Given the description of an element on the screen output the (x, y) to click on. 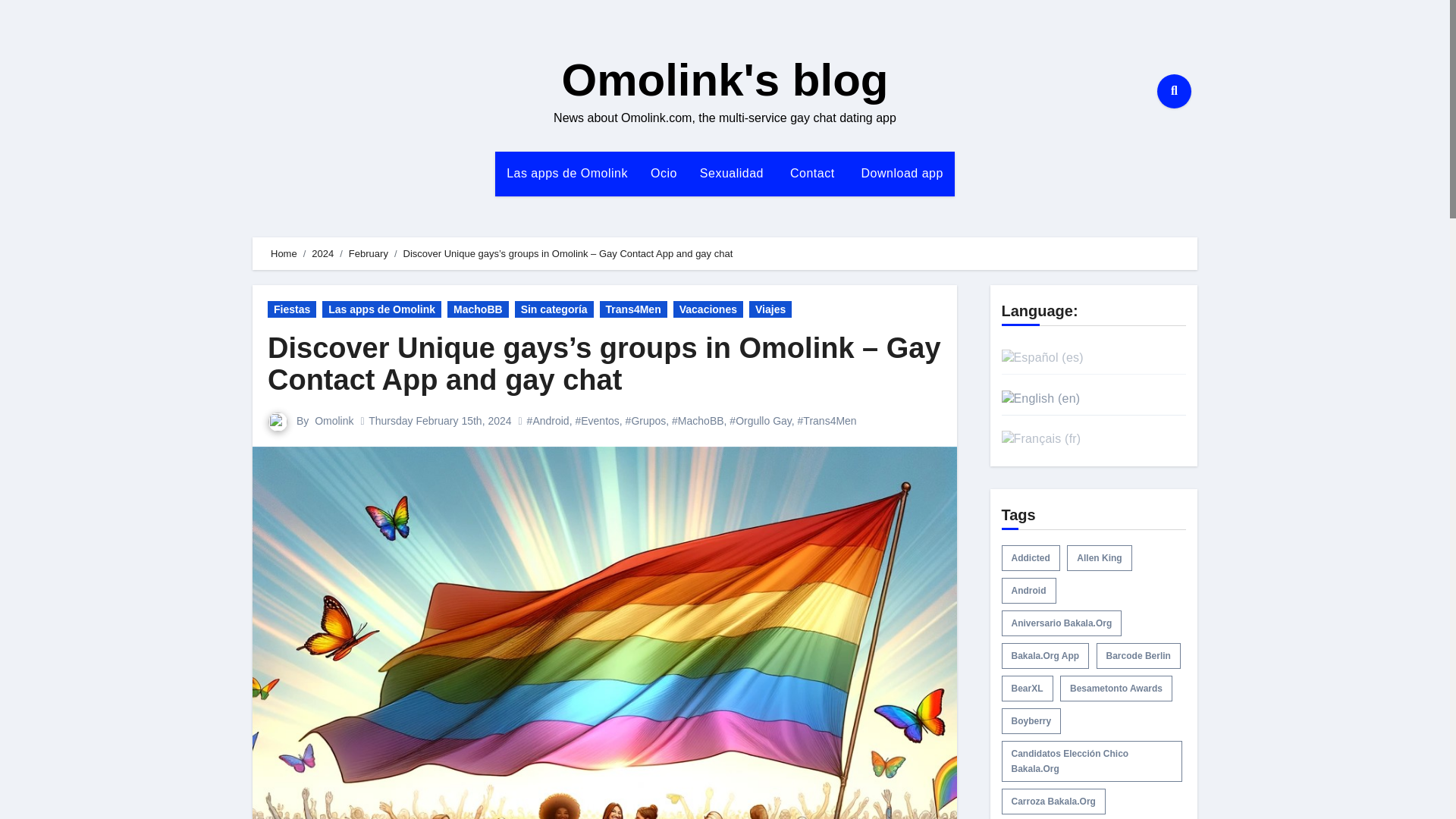
Vacaciones (707, 309)
 Contact (809, 173)
Fiestas (291, 309)
Las apps de Omolink (567, 173)
Sexualidad (731, 173)
2024 (322, 253)
MachoBB (477, 309)
Trans4Men (632, 309)
February (368, 253)
 Download app (900, 173)
Omolink (333, 420)
Las apps de Omolink (567, 173)
Thursday February 15th, 2024 (439, 420)
Las apps de Omolink (381, 309)
Home (283, 253)
